Given the description of an element on the screen output the (x, y) to click on. 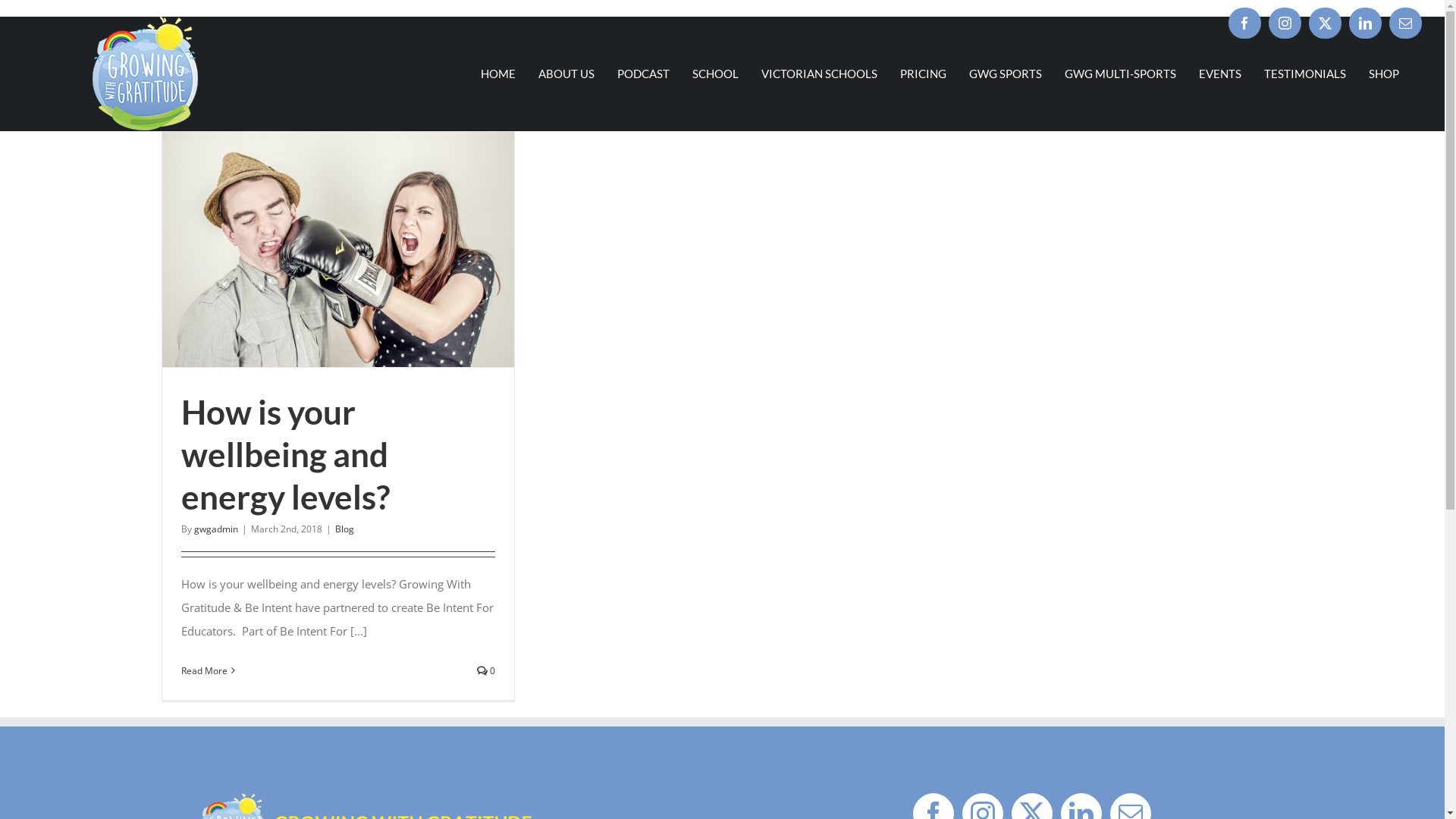
Facebook Element type: text (1244, 22)
PRICING Element type: text (923, 73)
Twitter Element type: text (1324, 22)
ABOUT US Element type: text (566, 73)
Blog Element type: text (344, 528)
How is your wellbeing and energy levels? Element type: text (284, 454)
SCHOOL Element type: text (715, 73)
GWG MULTI-SPORTS Element type: text (1120, 73)
Instagram Element type: text (1284, 22)
gwgadmin Element type: text (216, 528)
GWG SPORTS Element type: text (1005, 73)
Email Element type: text (1405, 22)
TESTIMONIALS Element type: text (1305, 73)
LinkedIn Element type: text (1365, 22)
PODCAST Element type: text (643, 73)
VICTORIAN SCHOOLS Element type: text (819, 73)
 0 Element type: text (485, 670)
EVENTS Element type: text (1219, 73)
Read More Element type: text (203, 670)
HOME Element type: text (497, 73)
SHOP Element type: text (1383, 73)
